Given the description of an element on the screen output the (x, y) to click on. 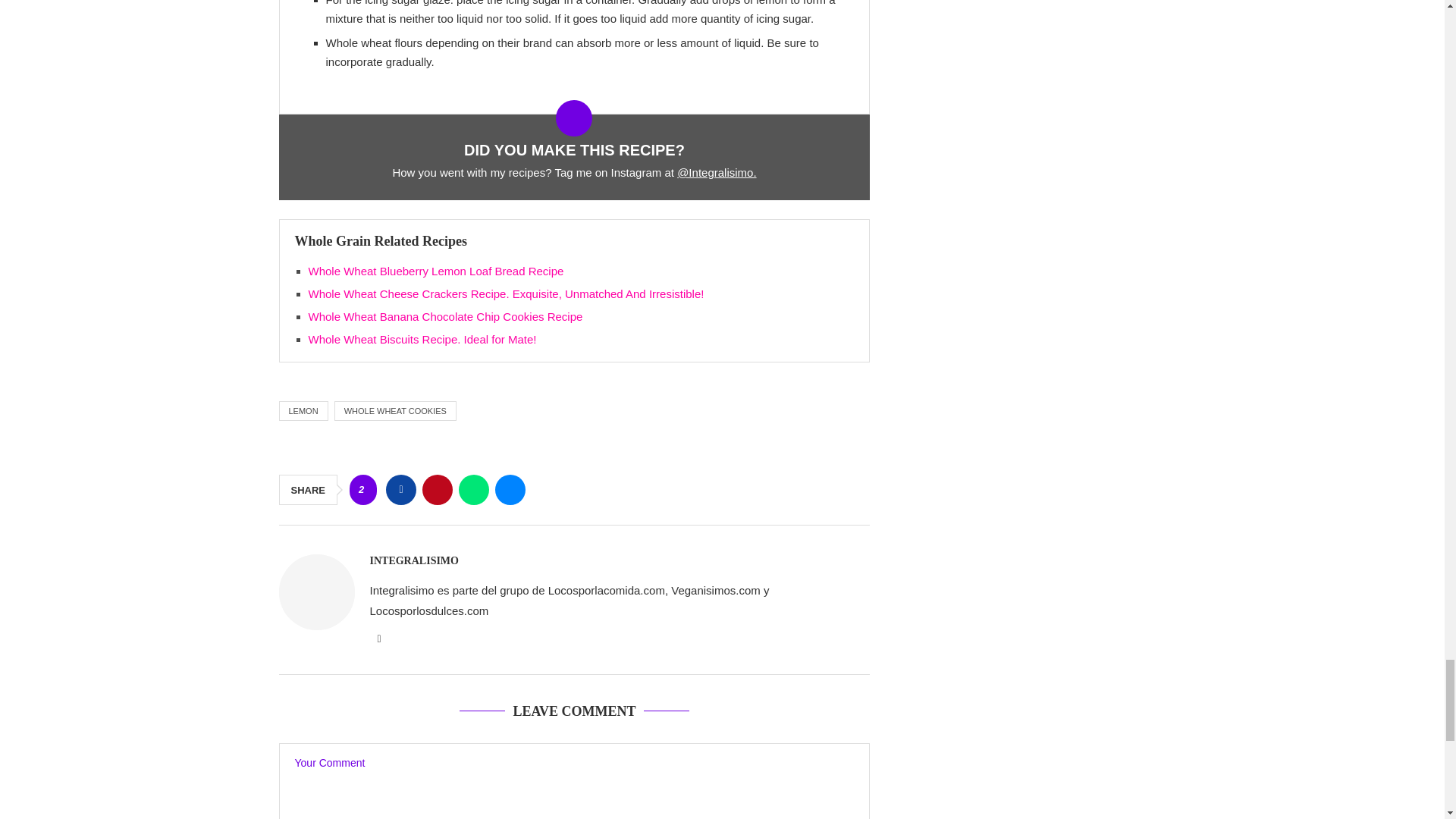
Author Integralisimo (413, 561)
Whole Wheat Banana Chocolate Chip Cookies Recipe (444, 316)
Whole Wheat Blueberry Lemon Loaf Bread Recipe (435, 270)
Whole Wheat Biscuits Recipe. Ideal for Mate! (421, 338)
